Given the description of an element on the screen output the (x, y) to click on. 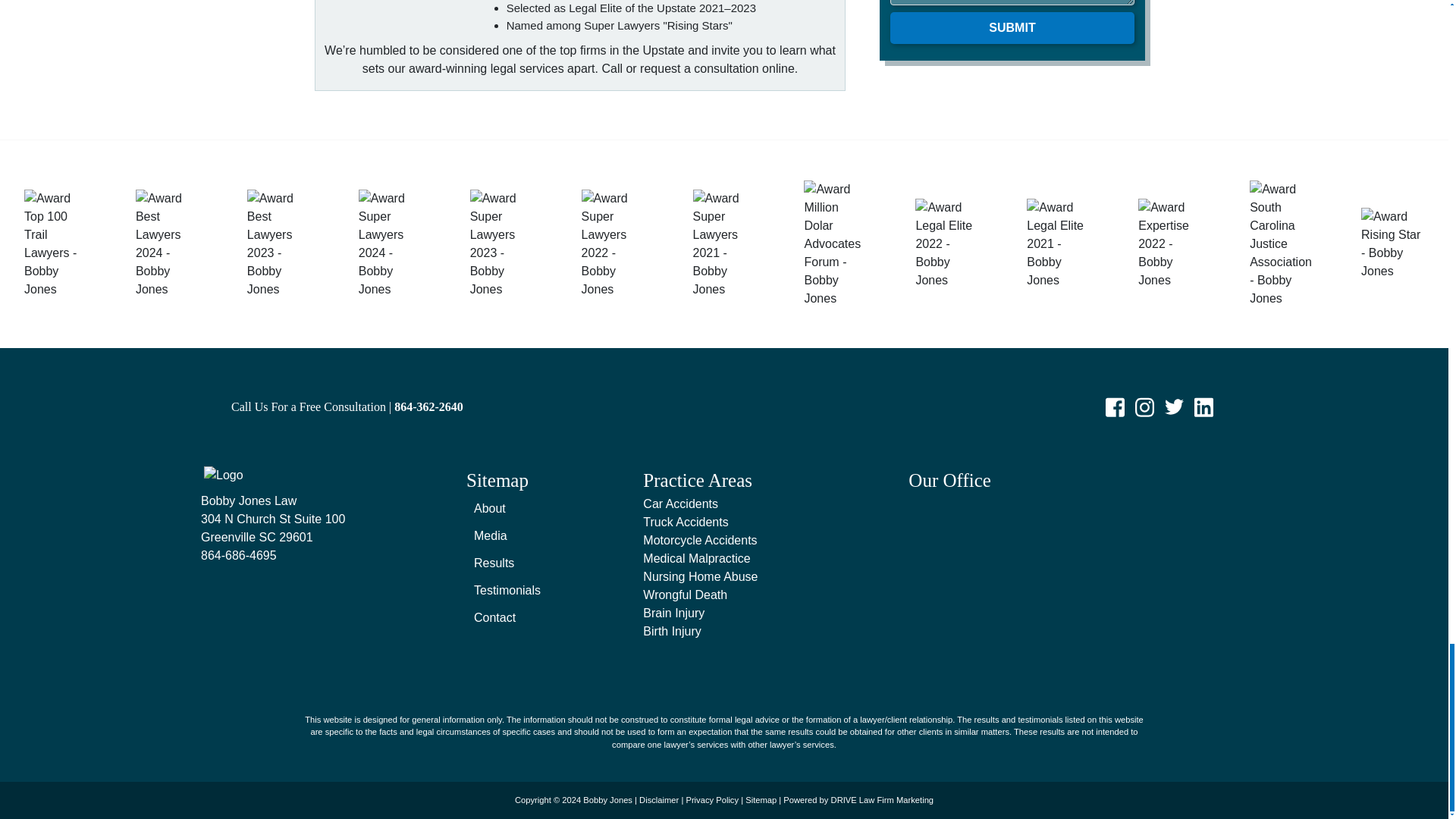
Twitter (1174, 405)
Google Map (1077, 586)
Instagram (1144, 405)
LinkedIn (1204, 405)
Facebook (1115, 405)
